Given the description of an element on the screen output the (x, y) to click on. 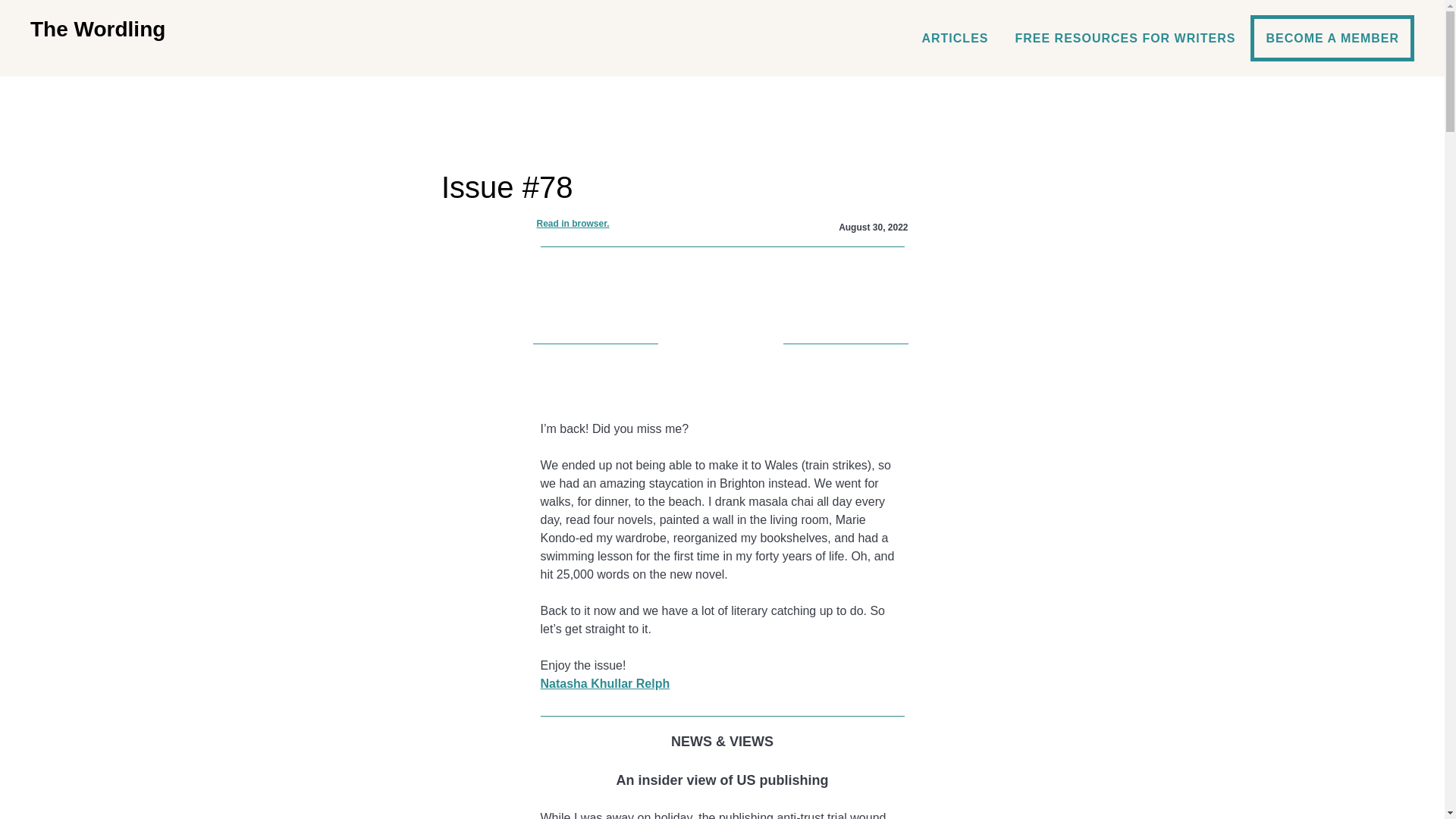
facebook (721, 344)
Natasha Khullar Relph (604, 683)
Read in browser. (573, 222)
The Wordling (97, 28)
FREE RESOURCES FOR WRITERS (1124, 37)
BECOME A MEMBER (1331, 37)
E-Mail (721, 392)
ARTICLES (954, 37)
twitter (721, 368)
